Given the description of an element on the screen output the (x, y) to click on. 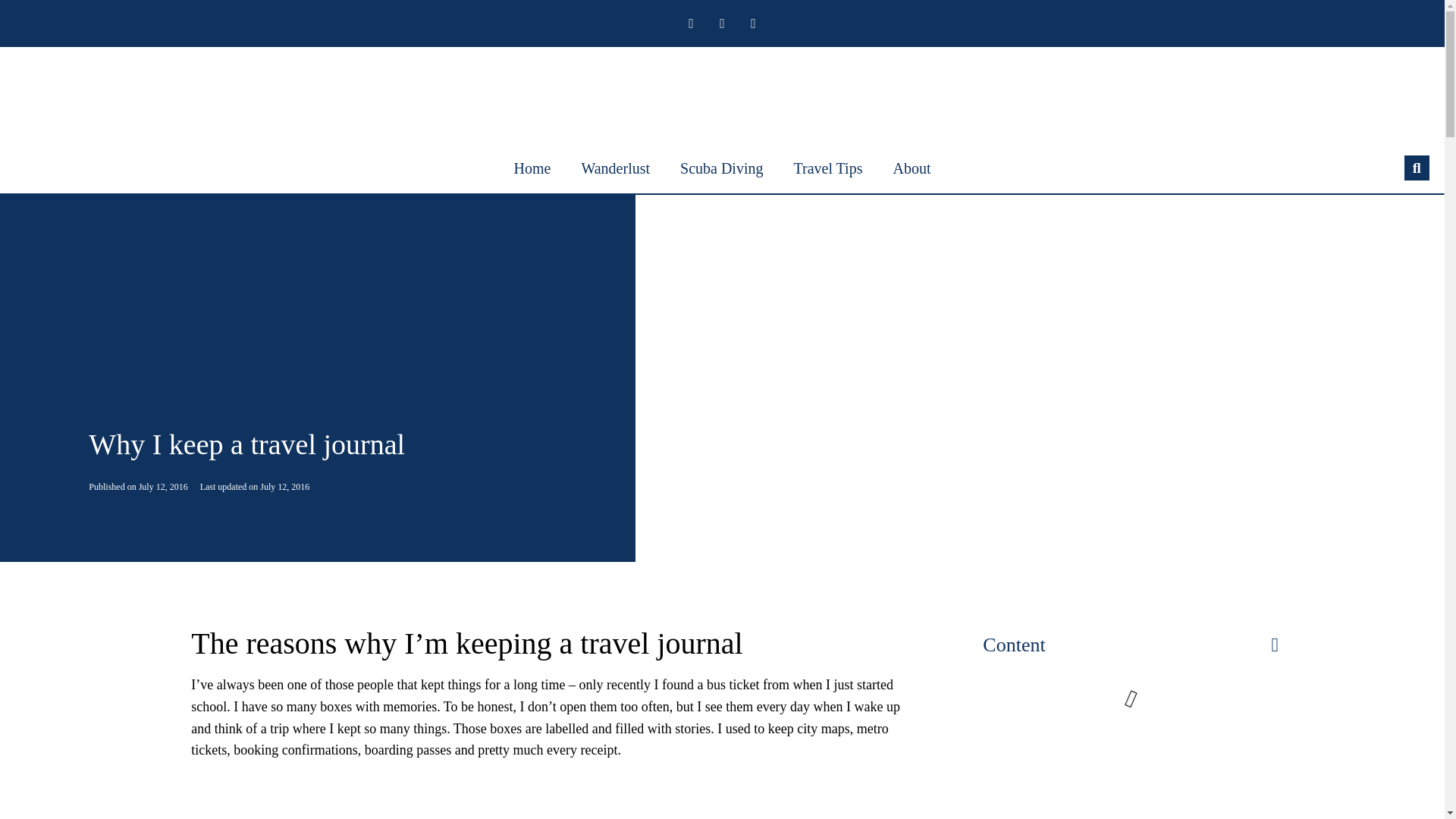
Travel Tips (827, 167)
Home (532, 167)
About (910, 167)
Scuba Diving (721, 167)
Wanderlust (615, 167)
